Given the description of an element on the screen output the (x, y) to click on. 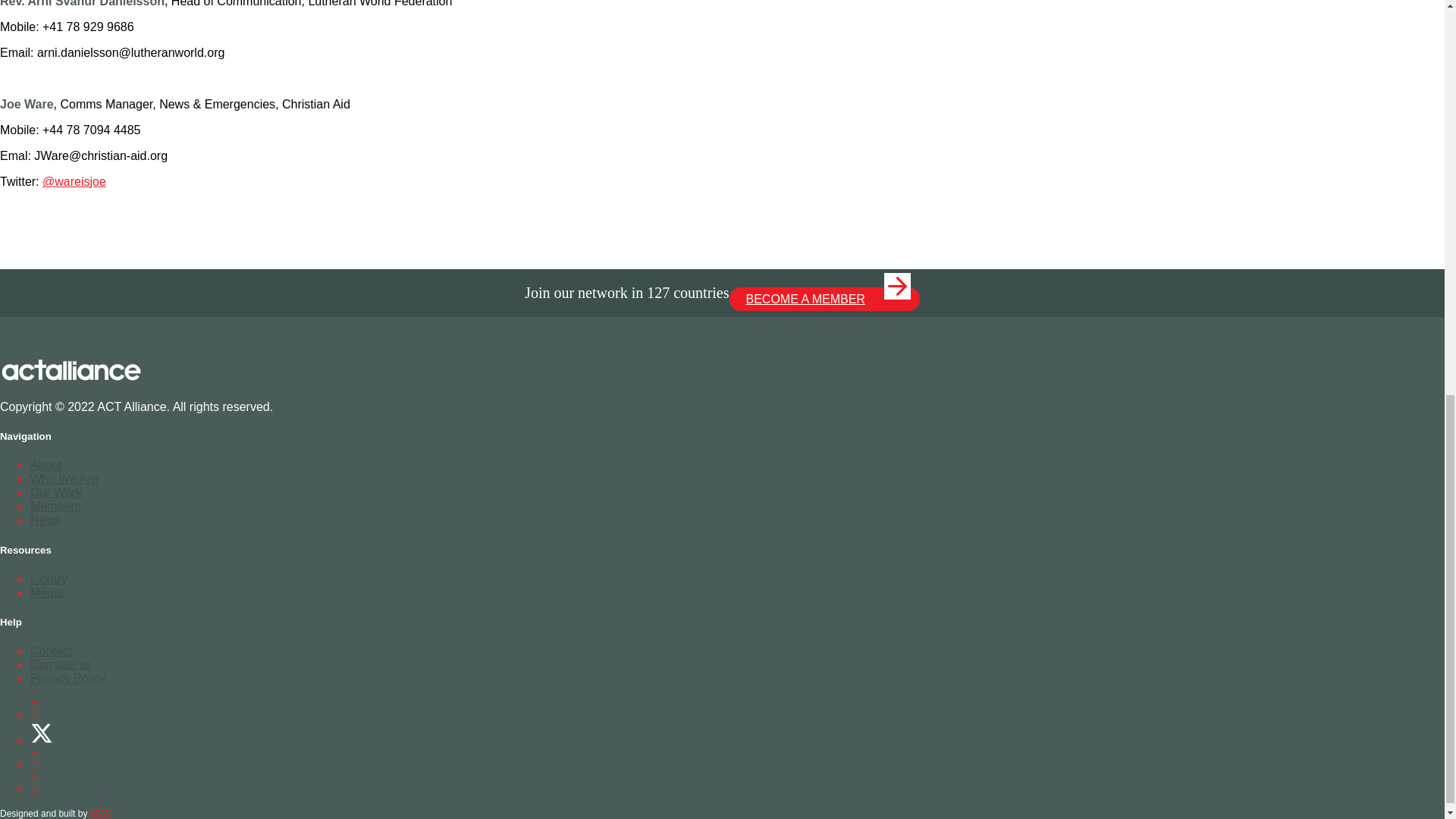
Our Work (55, 492)
Members (55, 505)
News (45, 519)
BECOME A MEMBER (824, 299)
About (46, 464)
Who We Are (64, 478)
